Given the description of an element on the screen output the (x, y) to click on. 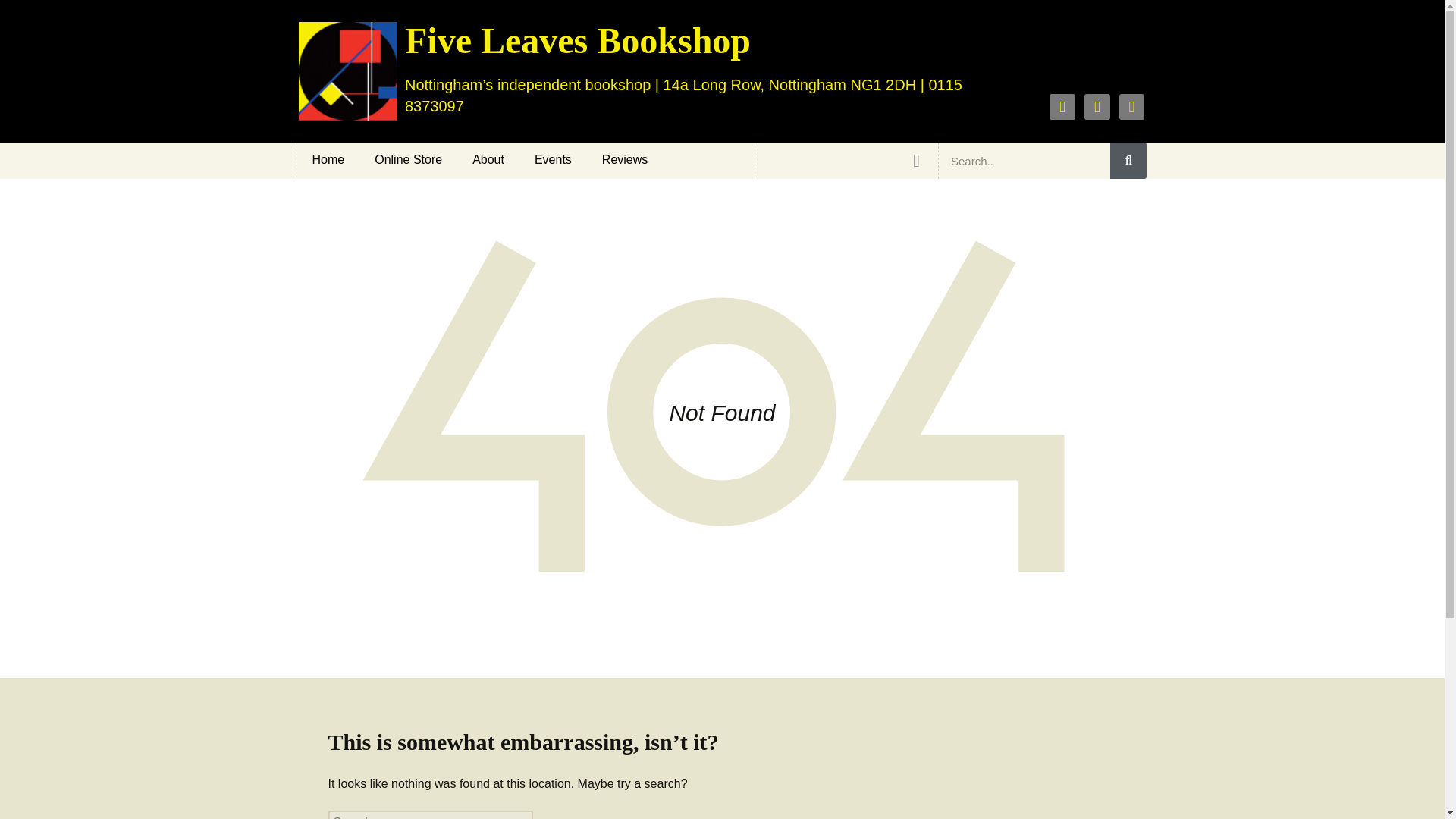
Reviews (624, 159)
Online Store (408, 159)
Events (552, 159)
About (488, 159)
Home (328, 159)
Search (1024, 160)
Search (1128, 160)
Search (37, 15)
logo-cropped (347, 71)
Five Leaves Bookshop (577, 40)
